Given the description of an element on the screen output the (x, y) to click on. 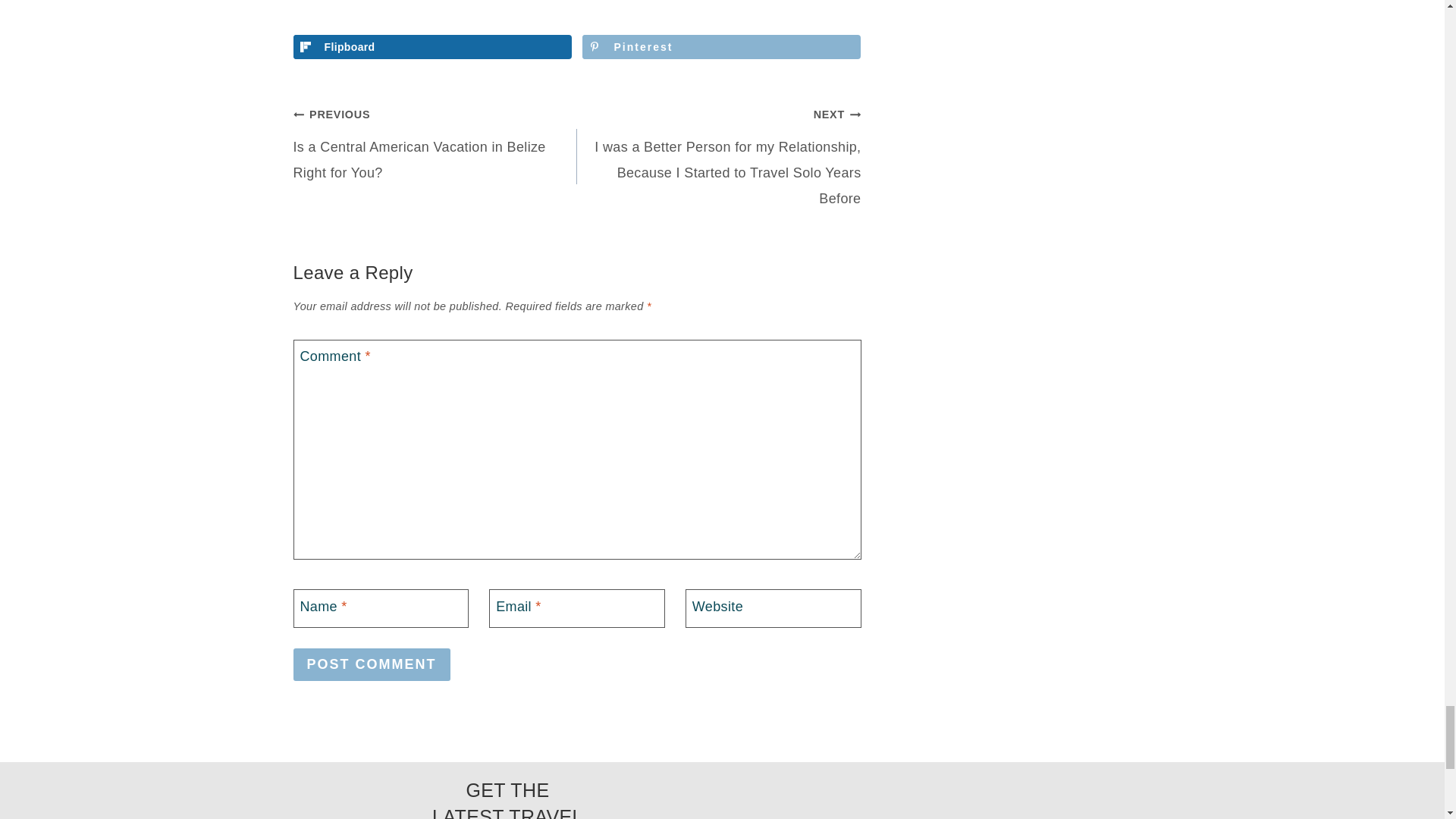
Save to Pinterest (721, 46)
Share on Flipboard (431, 46)
Post Comment (370, 664)
